Given the description of an element on the screen output the (x, y) to click on. 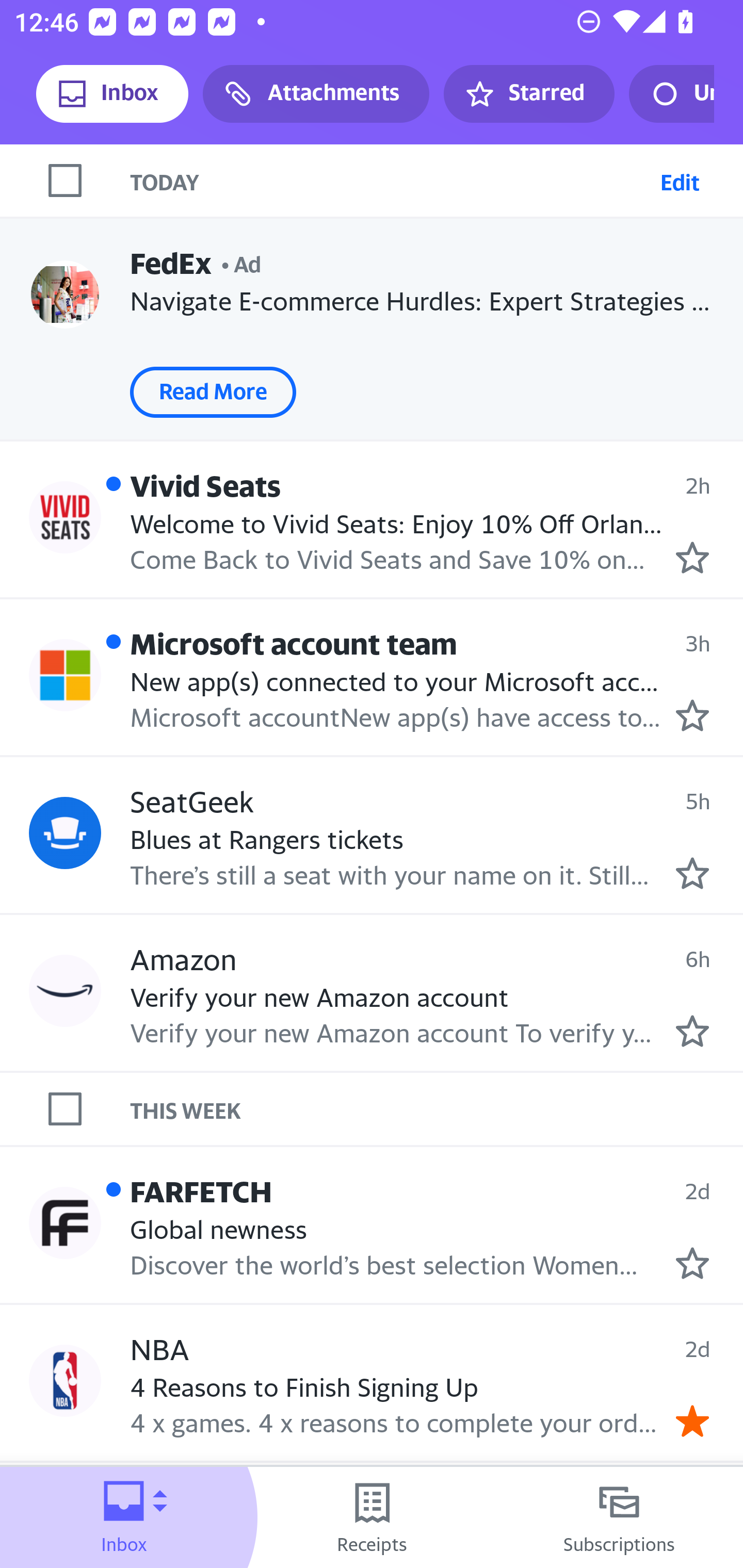
Attachments (315, 93)
Starred (528, 93)
TODAY (391, 180)
Edit Select emails (679, 180)
Profile
Vivid Seats (64, 517)
Mark as starred. (692, 557)
Profile
Microsoft account team (64, 675)
Mark as starred. (692, 715)
Profile
SeatGeek (64, 832)
Mark as starred. (692, 872)
Profile
Amazon (64, 990)
Mark as starred. (692, 1030)
THIS WEEK (436, 1109)
Profile
FARFETCH (64, 1222)
Mark as starred. (692, 1262)
Profile
NBA (64, 1381)
Remove star. (692, 1421)
Inbox Folder picker (123, 1517)
Receipts (371, 1517)
Subscriptions (619, 1517)
